Given the description of an element on the screen output the (x, y) to click on. 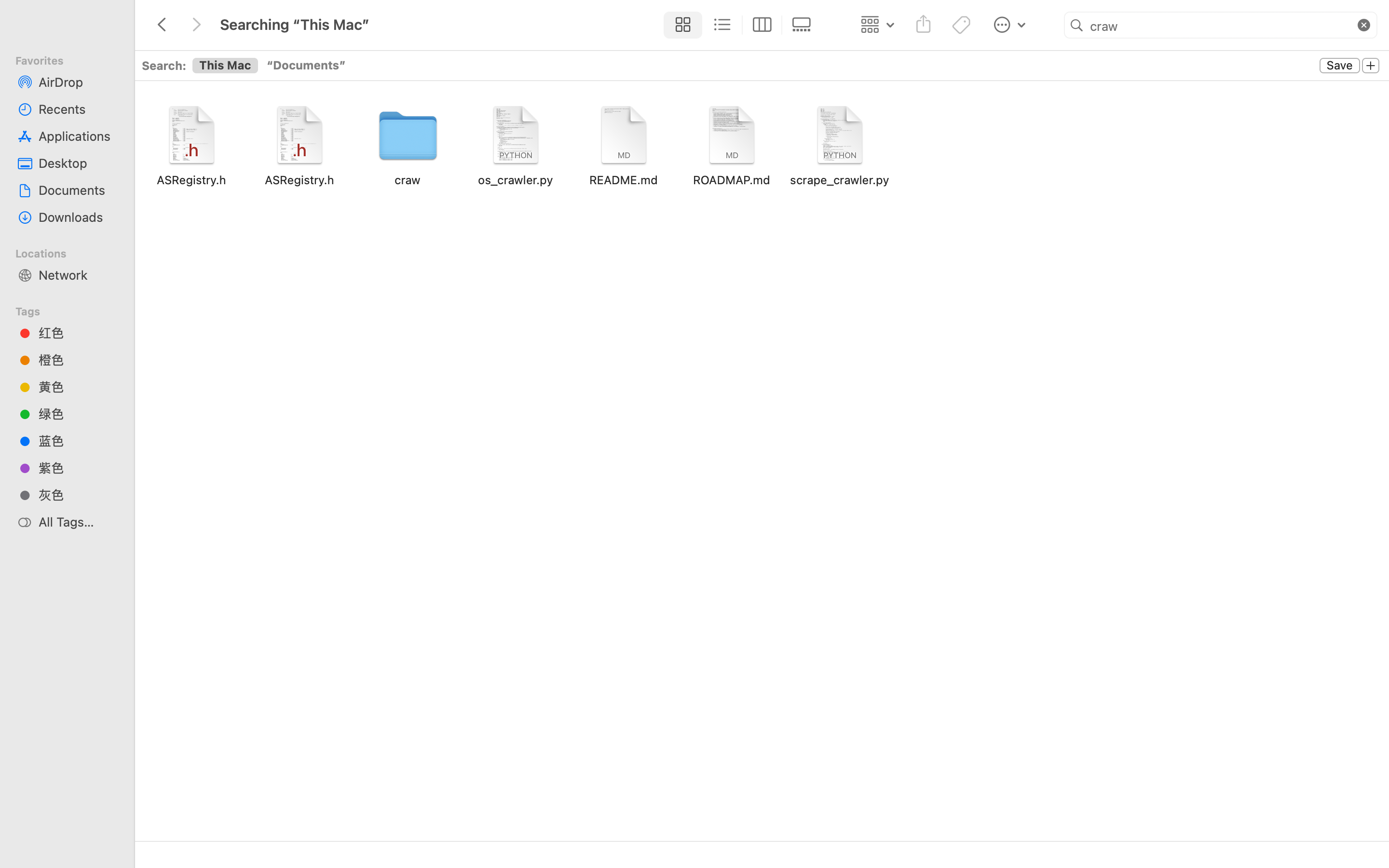
All Tags… Element type: AXStaticText (77, 521)
Recents Element type: AXStaticText (77, 108)
0 Element type: AXRadioButton (804, 24)
Tags Element type: AXStaticText (72, 309)
Network Element type: AXStaticText (77, 274)
